Given the description of an element on the screen output the (x, y) to click on. 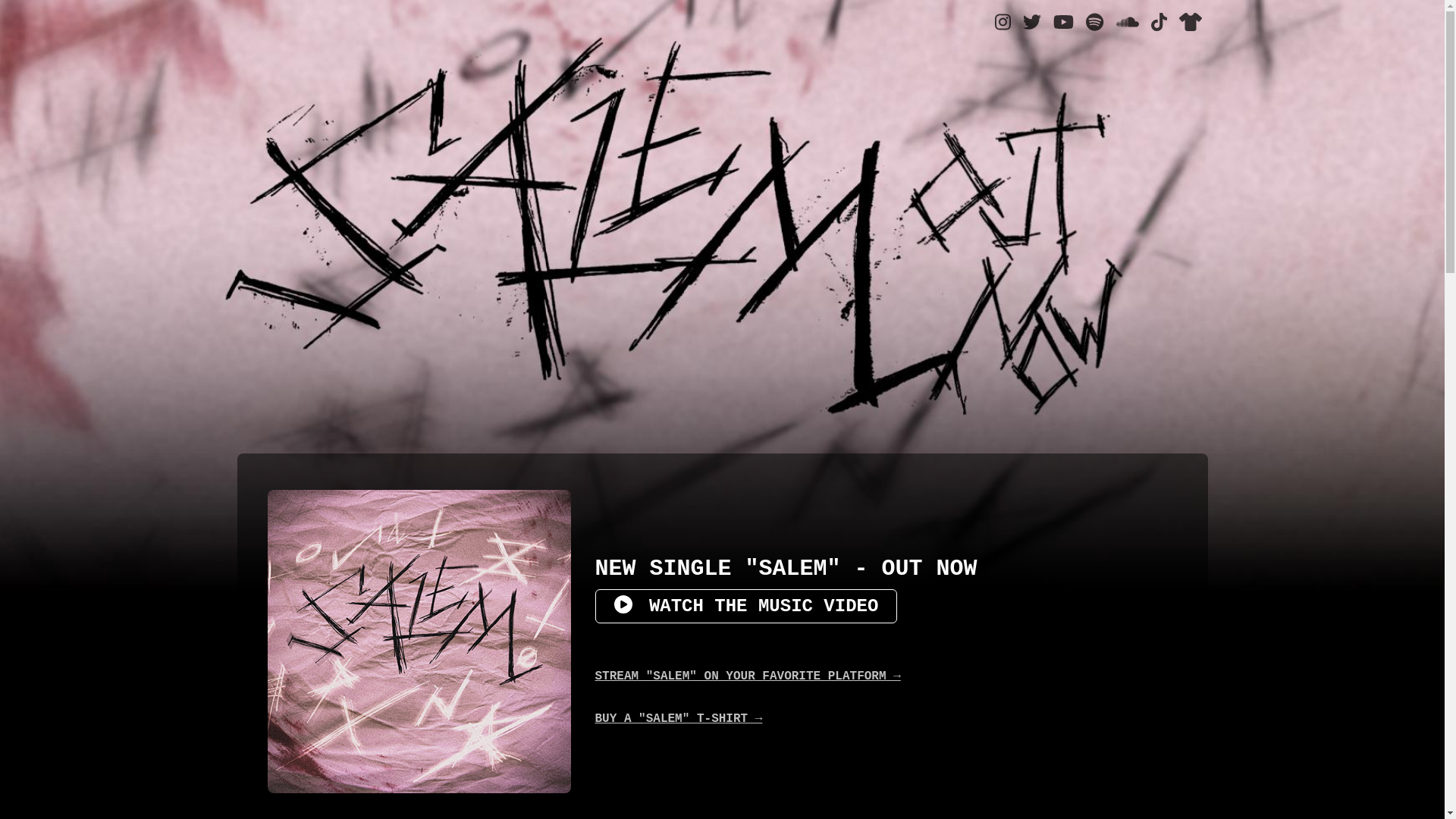
WATCH THE MUSIC VIDEO Element type: text (745, 606)
